Given the description of an element on the screen output the (x, y) to click on. 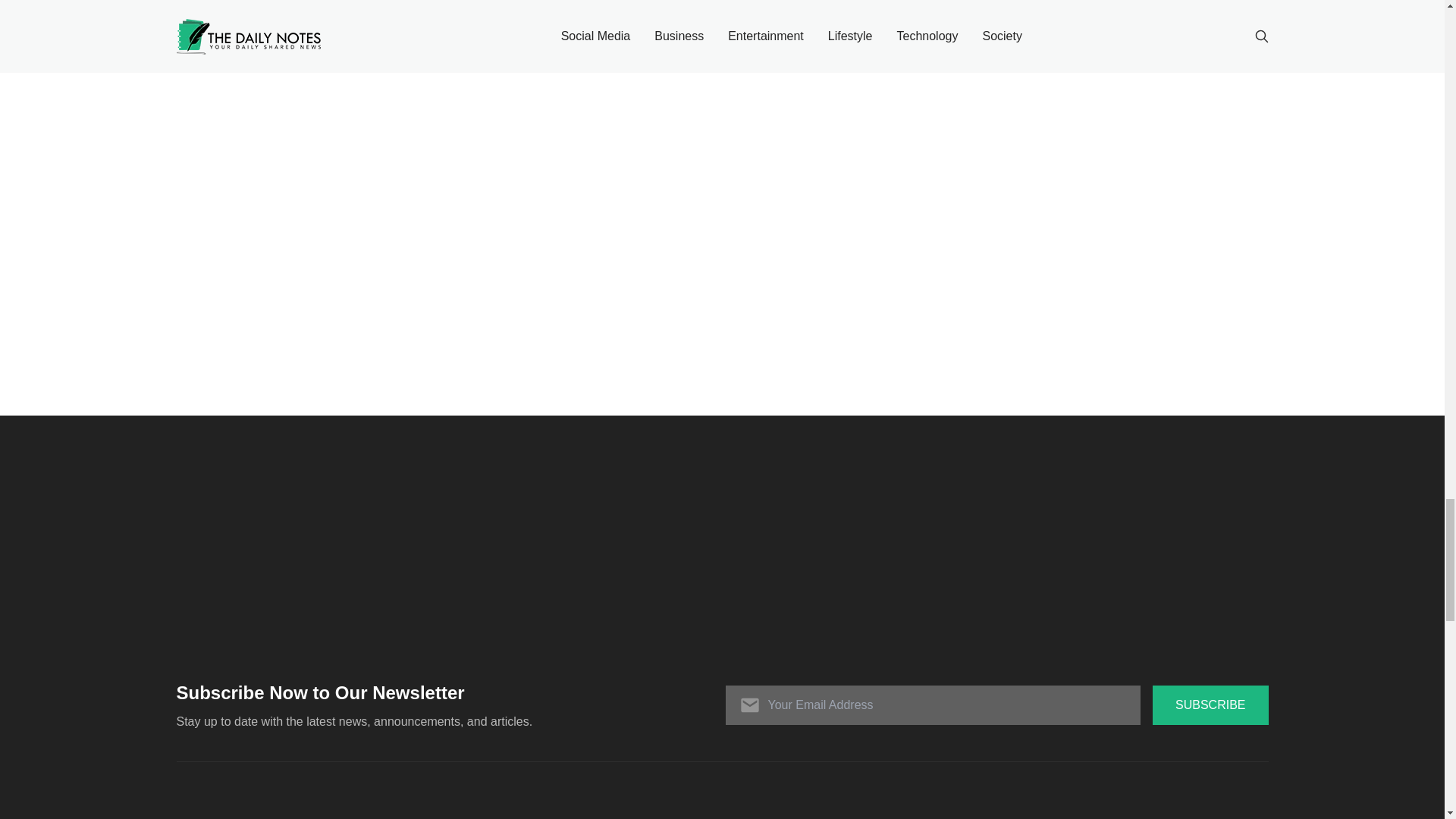
Subscribe (1210, 704)
